Given the description of an element on the screen output the (x, y) to click on. 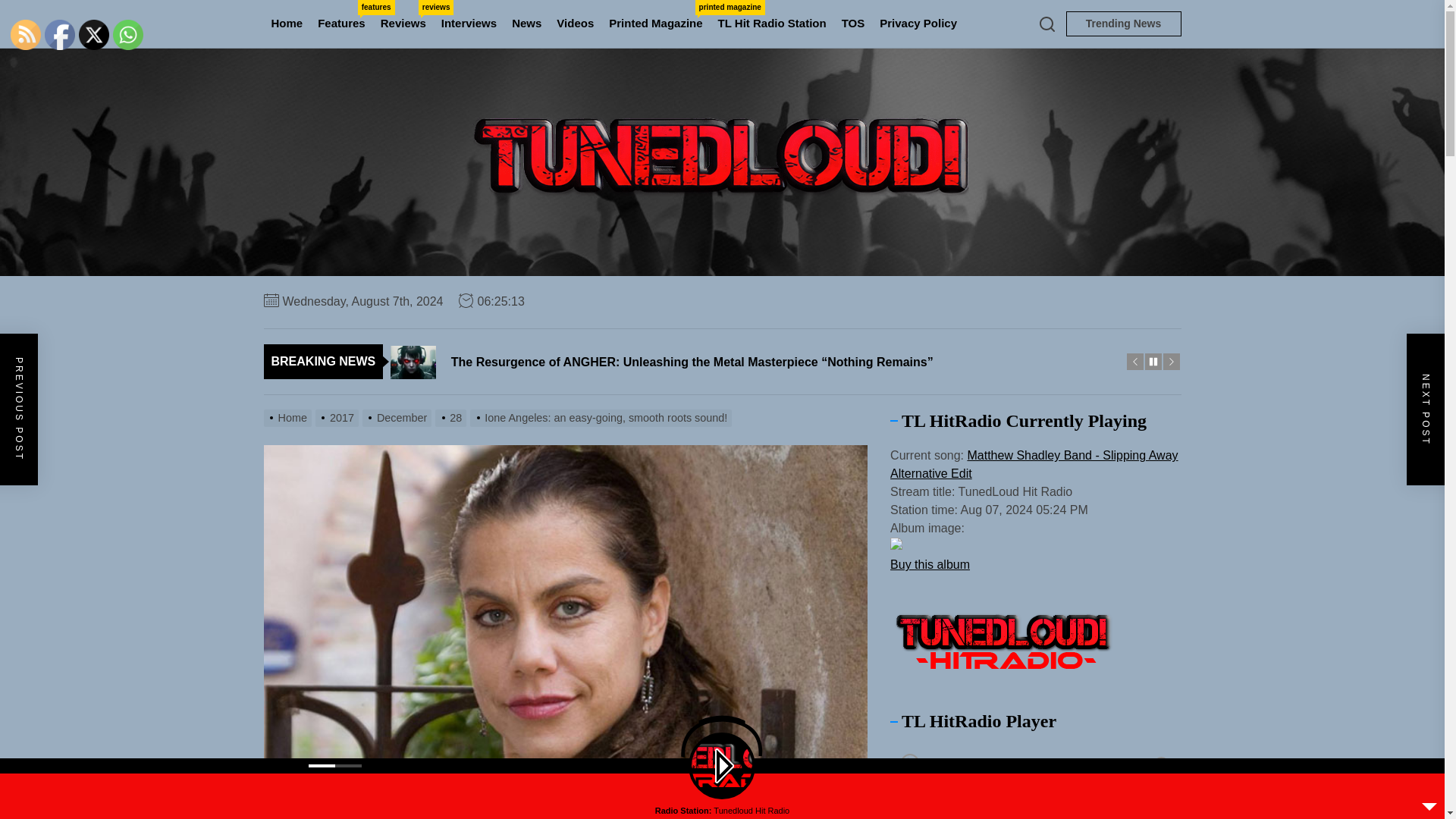
Videos (341, 23)
Privacy Policy (574, 23)
News (917, 23)
Trending News (402, 23)
Interviews (655, 23)
TL Hit Radio Station (525, 23)
Home (1122, 23)
